Given the description of an element on the screen output the (x, y) to click on. 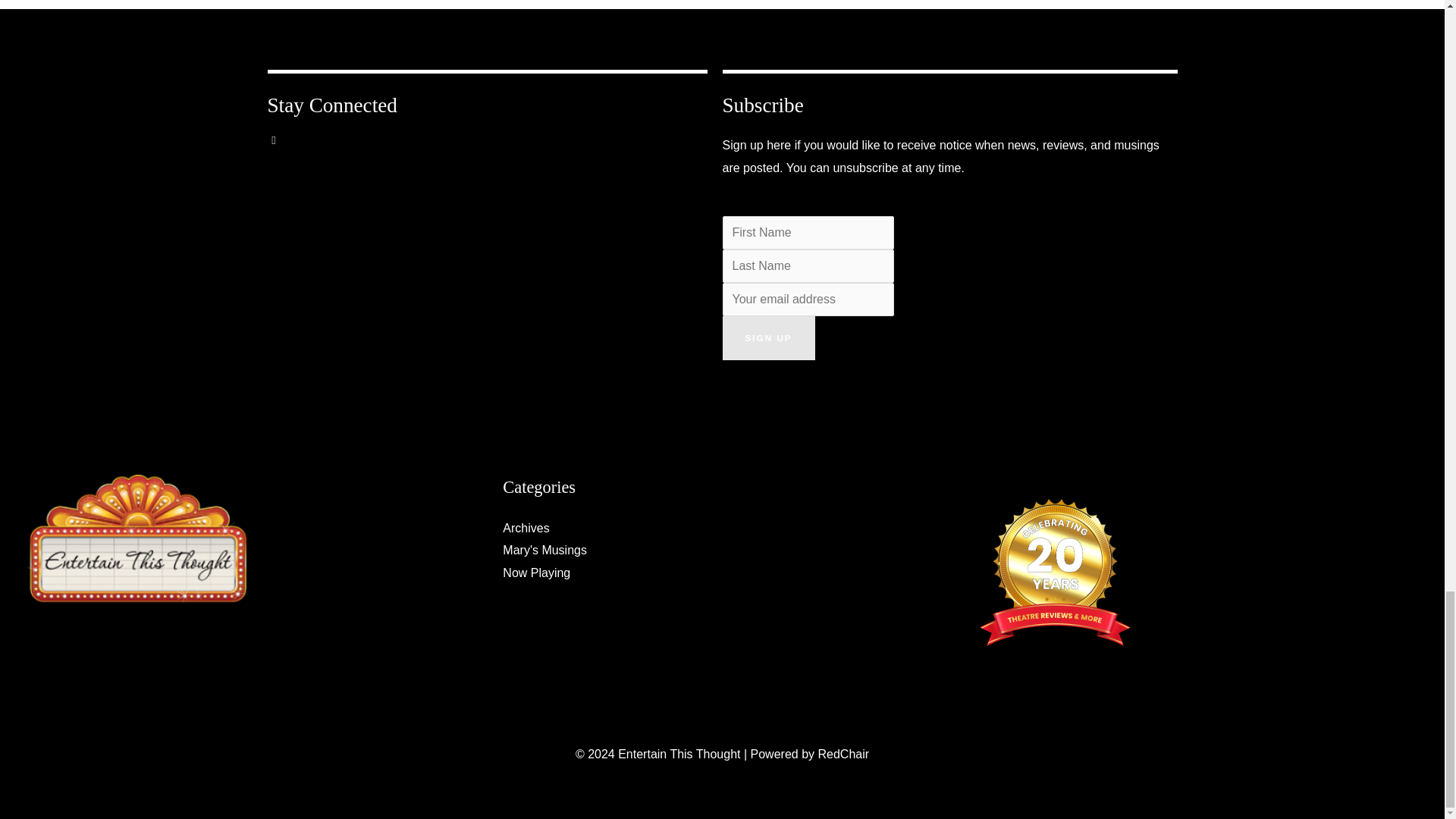
Archives (525, 527)
Sign up (767, 338)
Sign up (767, 338)
Mary's Musings (544, 549)
RedChair (842, 753)
Facebook-f (283, 151)
Now Playing (536, 572)
